Given the description of an element on the screen output the (x, y) to click on. 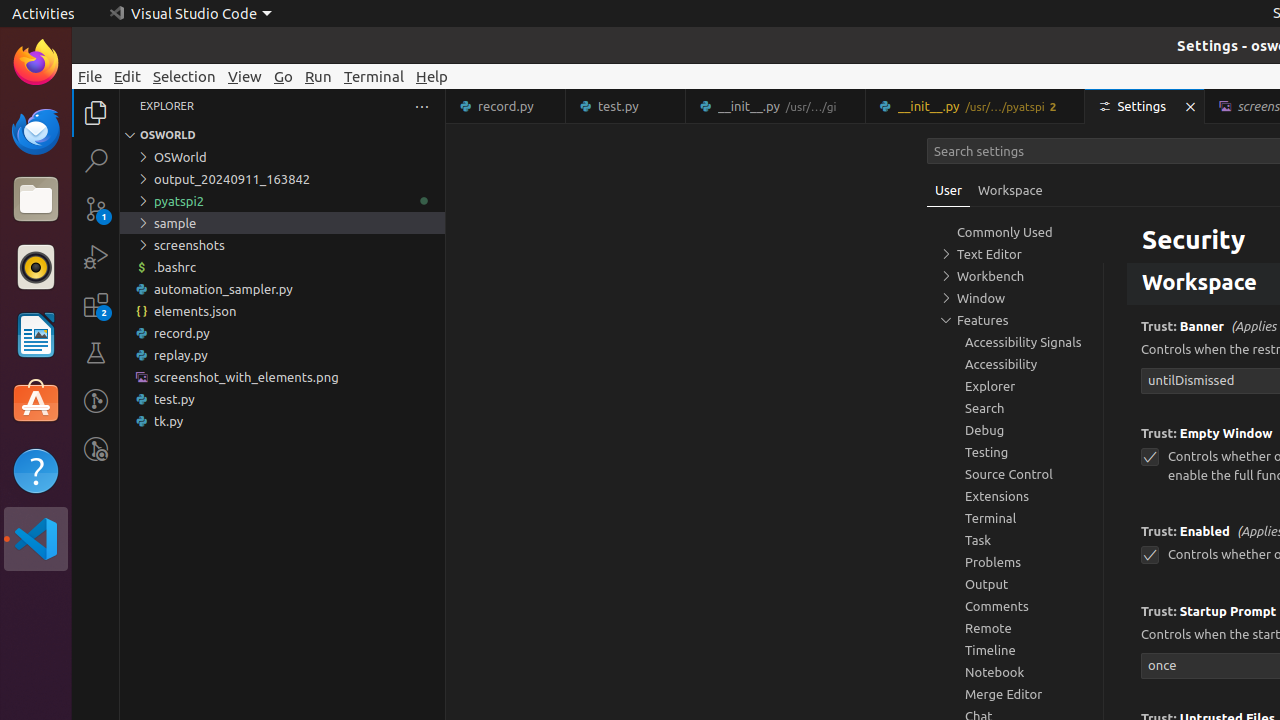
Notebook, group Element type: tree-item (1015, 672)
output_20240911_163842 Element type: tree-item (282, 179)
screenshots Element type: tree-item (282, 245)
Edit Element type: push-button (127, 76)
record.py Element type: tree-item (282, 333)
